Given the description of an element on the screen output the (x, y) to click on. 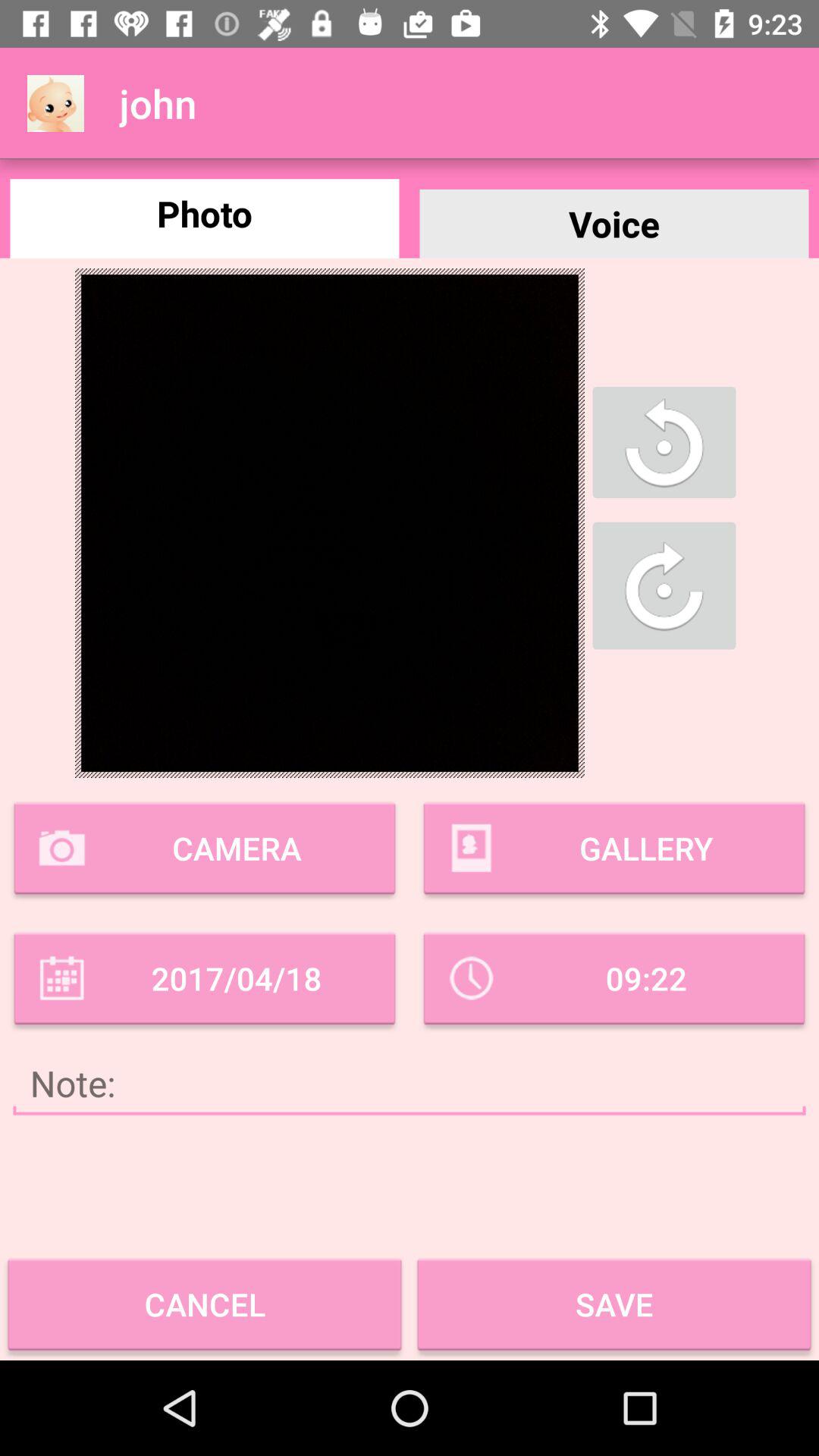
rotate photo anti-clockwise (663, 442)
